Given the description of an element on the screen output the (x, y) to click on. 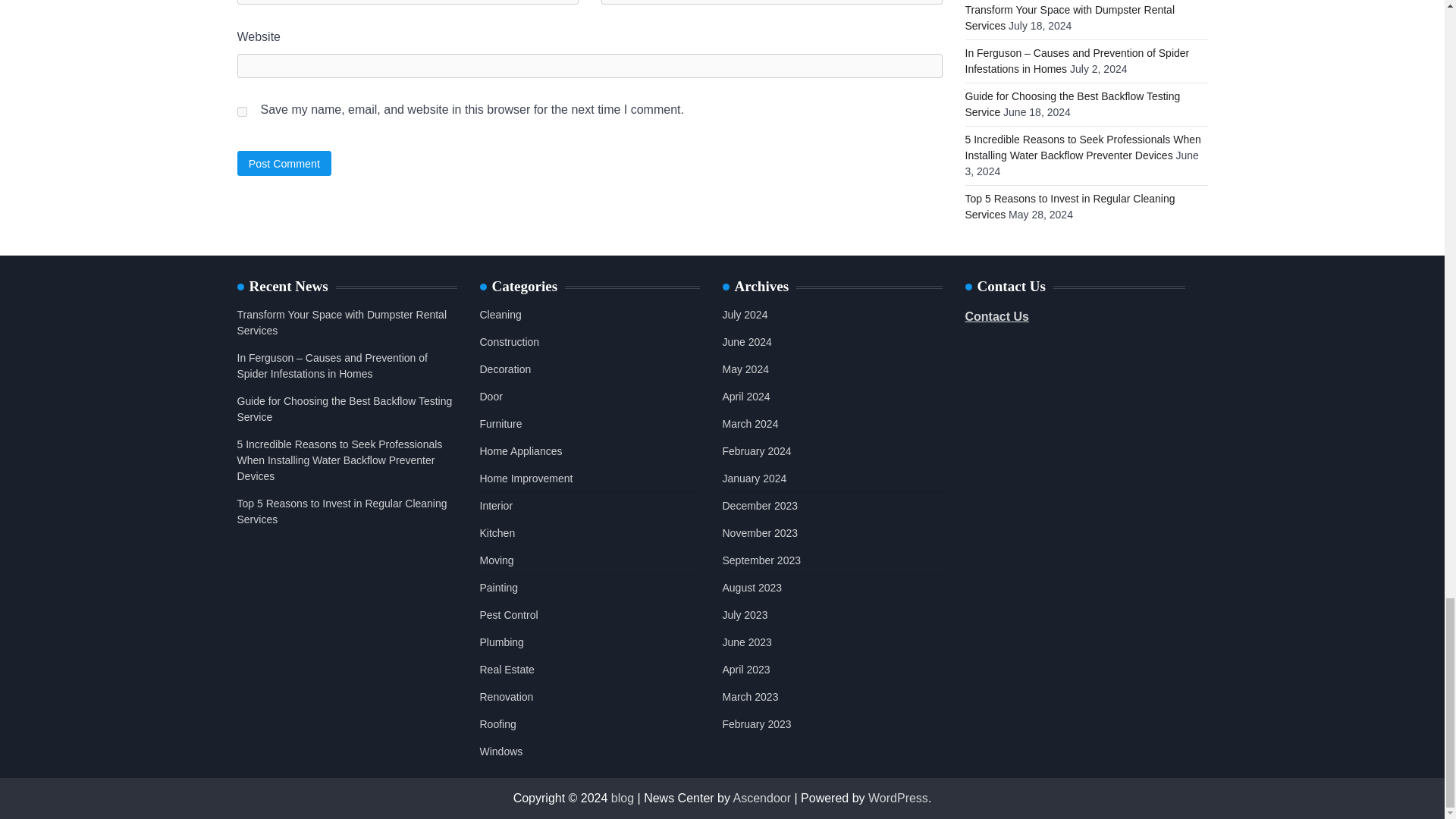
yes (240, 112)
Post Comment (283, 163)
